Given the description of an element on the screen output the (x, y) to click on. 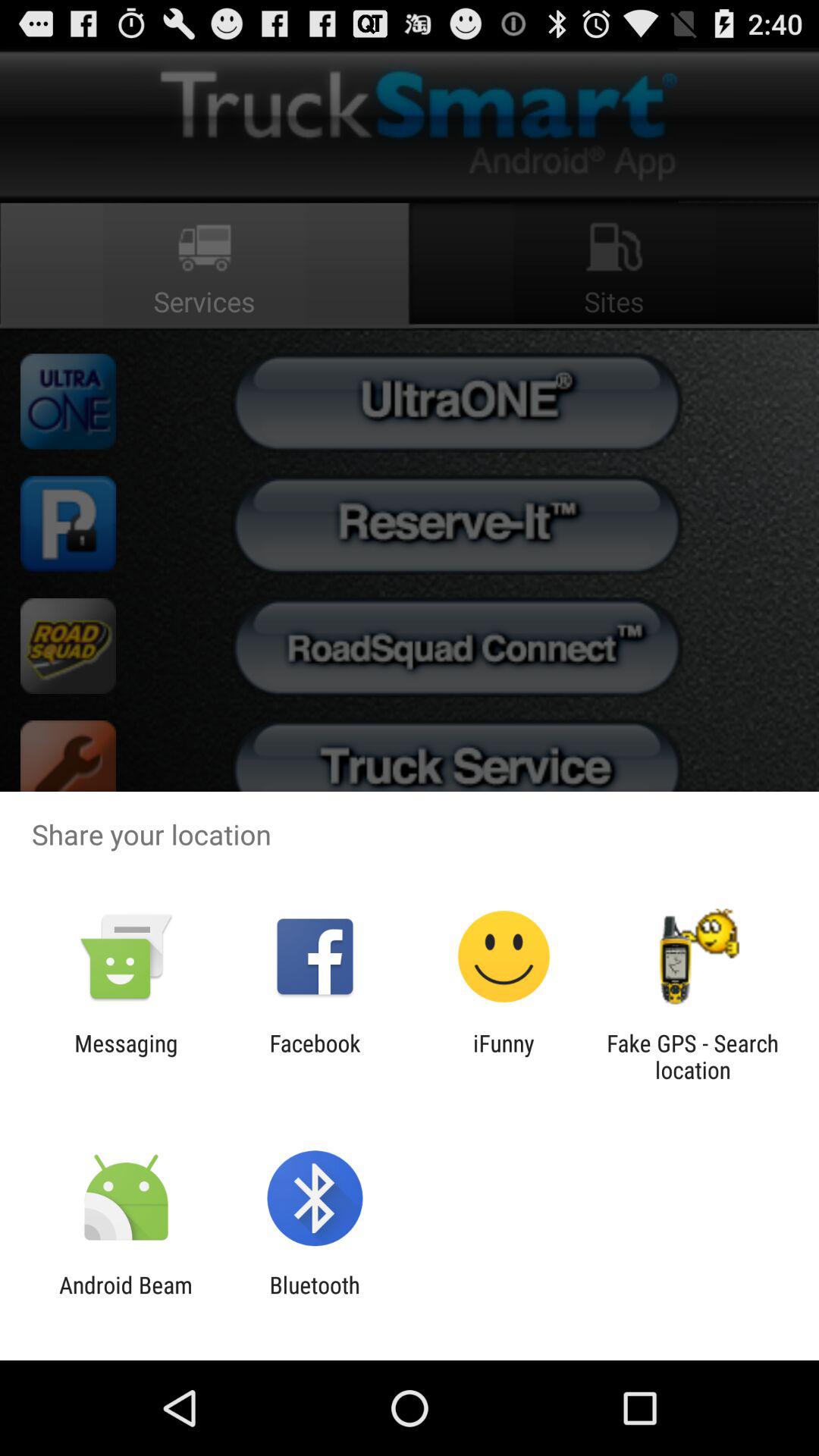
turn off the bluetooth icon (314, 1298)
